Given the description of an element on the screen output the (x, y) to click on. 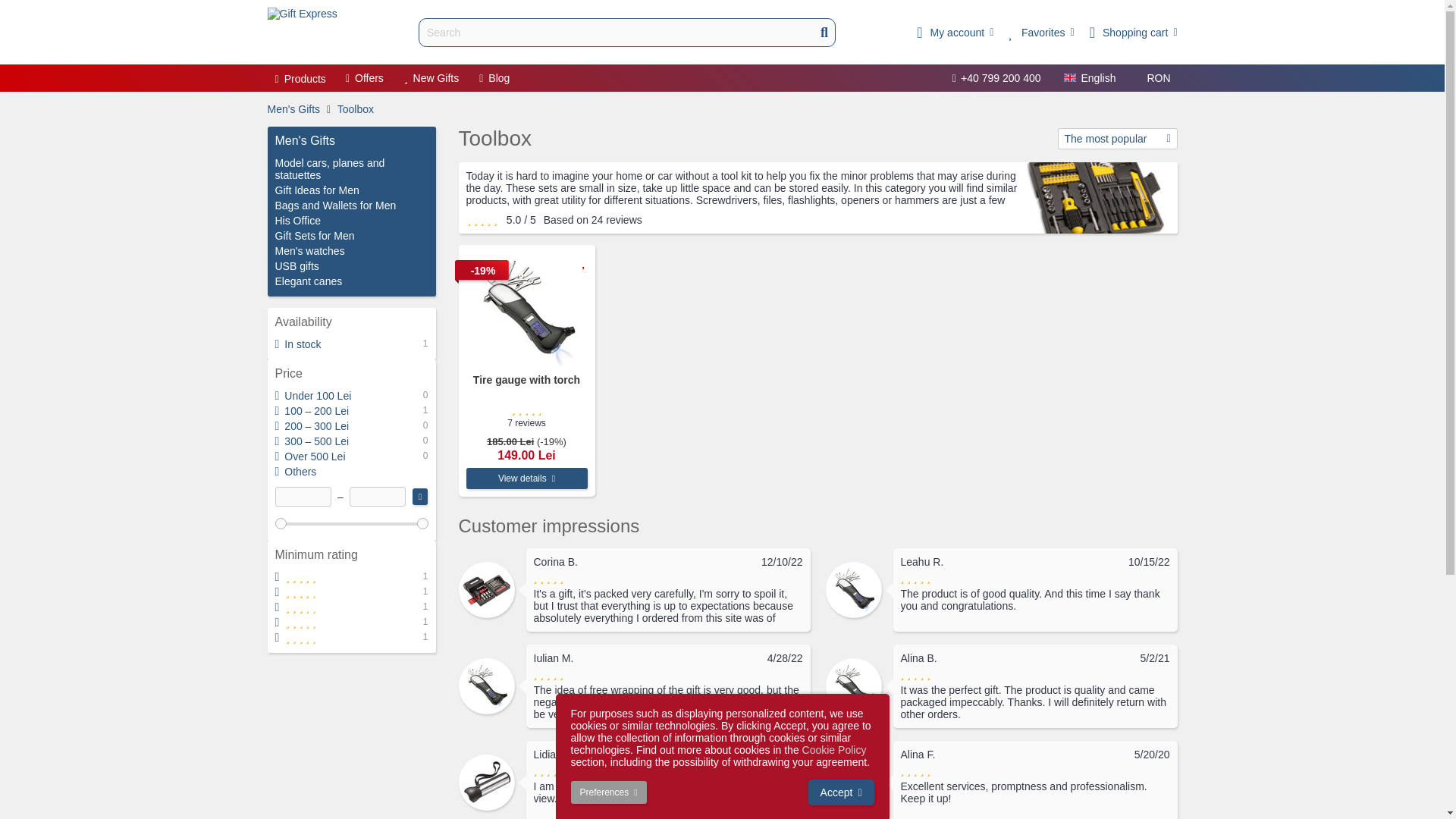
Shopping cart (1133, 31)
100 (351, 521)
Products (299, 79)
Favorites (1041, 31)
Tire gauge with torch (525, 309)
My account (954, 31)
0 (351, 521)
Gift Express (301, 31)
